Given the description of an element on the screen output the (x, y) to click on. 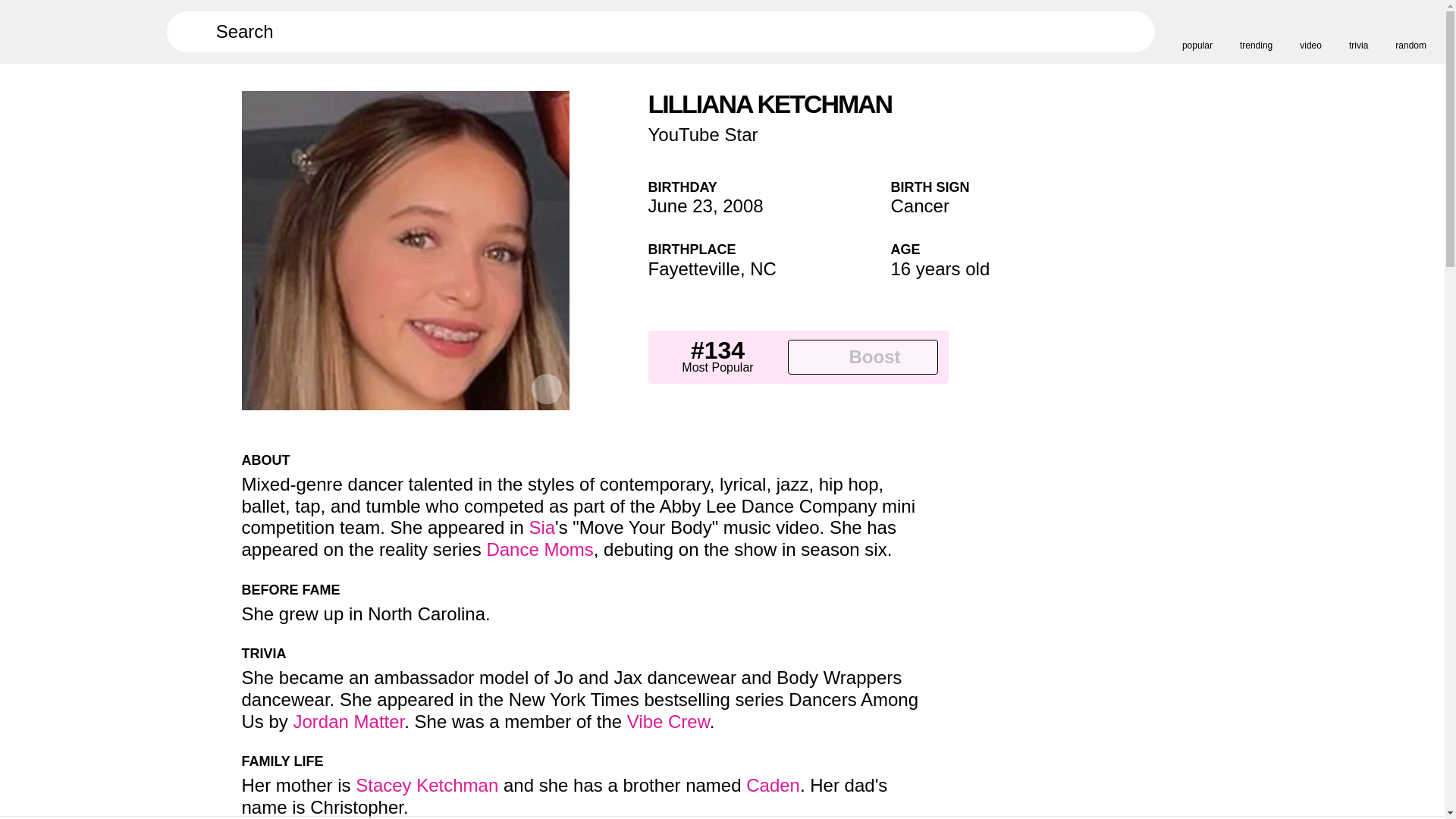
Caden (772, 784)
Cancer (919, 205)
YouTube Star (702, 134)
Fayetteville (693, 268)
2008 (742, 205)
Sia (541, 526)
16 years old (939, 268)
Stacey Ketchman (426, 784)
June 23 (679, 205)
Boost (862, 356)
